Given the description of an element on the screen output the (x, y) to click on. 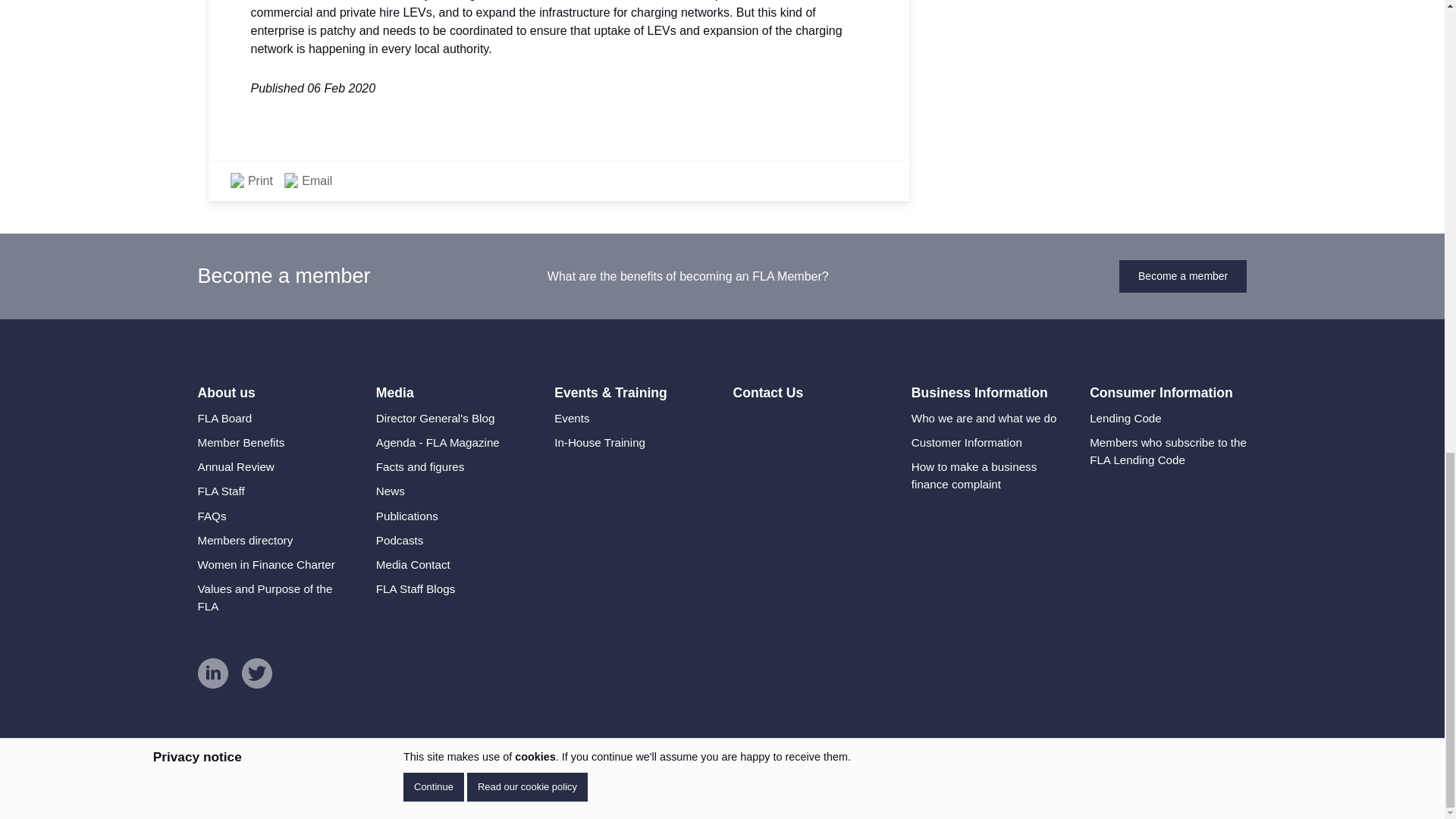
print (236, 180)
Share by e-mail (307, 180)
envelope (290, 180)
